Given the description of an element on the screen output the (x, y) to click on. 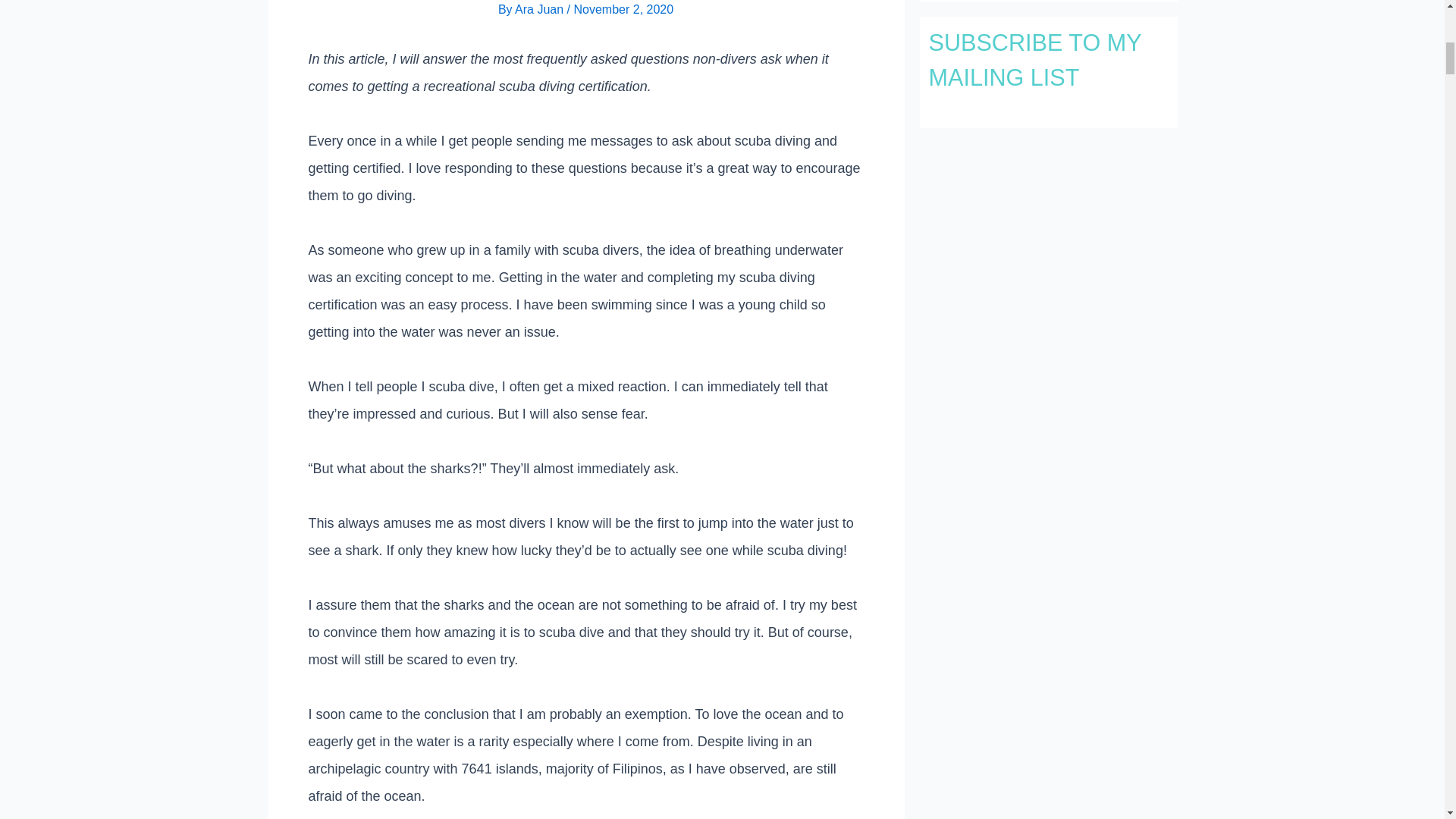
View all posts by Ara Juan (540, 9)
